Given the description of an element on the screen output the (x, y) to click on. 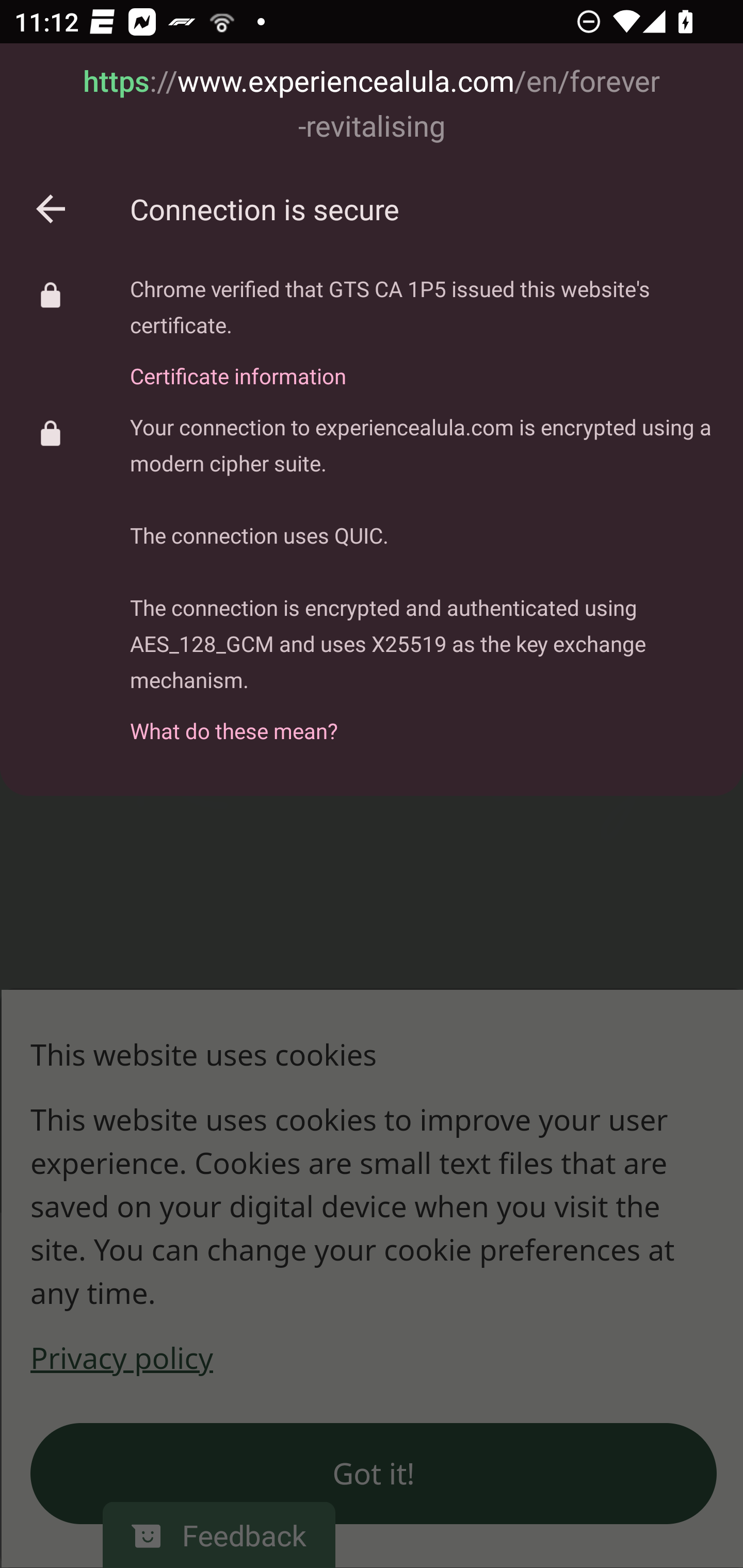
Back (50, 209)
Certificate information (422, 364)
What do these mean? (422, 719)
